Given the description of an element on the screen output the (x, y) to click on. 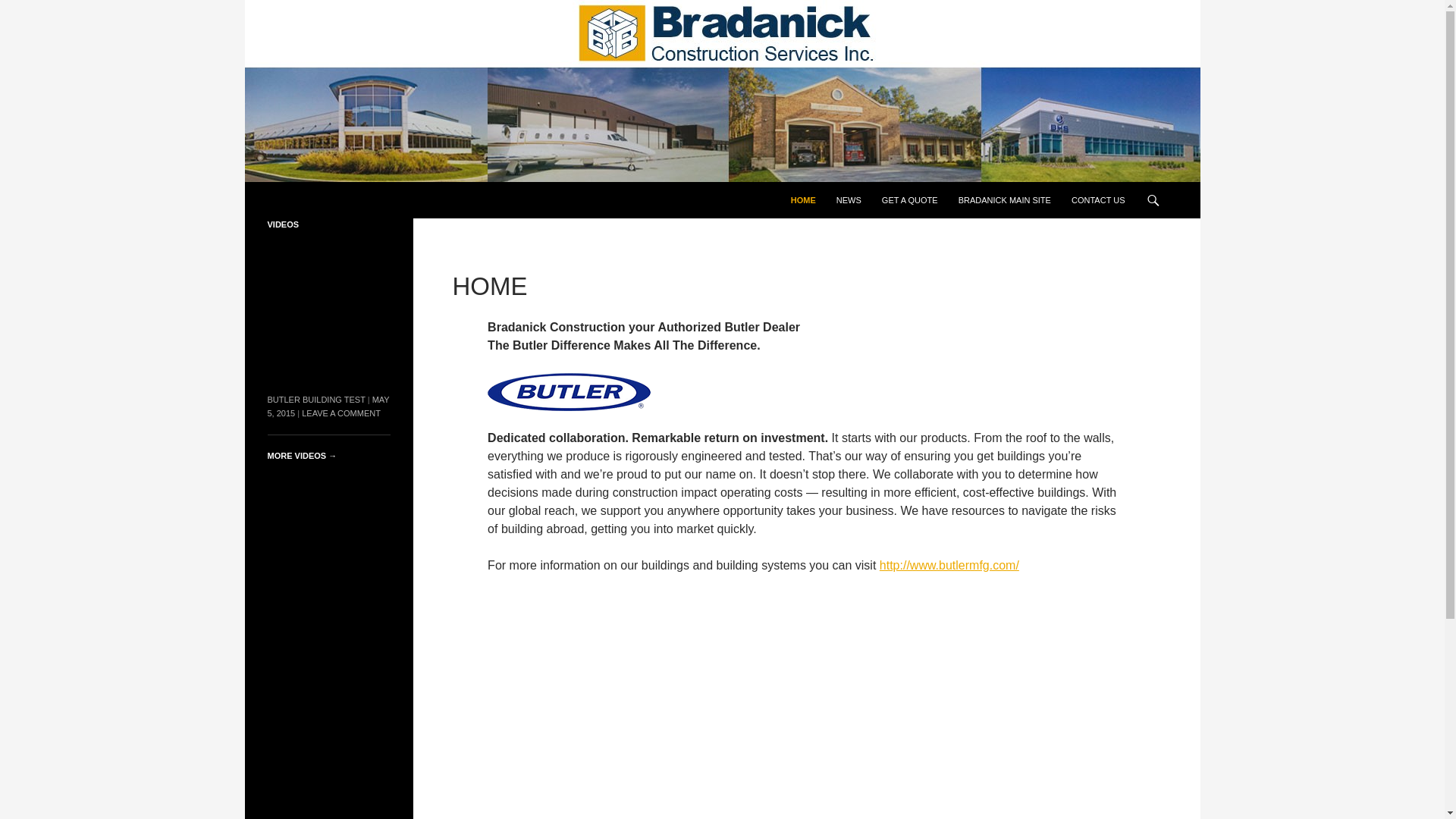
BUTLER BUILDING TEST (315, 399)
CONTACT US (1098, 199)
NEWS (848, 199)
VIDEOS (282, 224)
GET A QUOTE (909, 199)
HOME (803, 199)
LEAVE A COMMENT (340, 412)
MAY 5, 2015 (327, 405)
BRADANICK MAIN SITE (1004, 199)
